Given the description of an element on the screen output the (x, y) to click on. 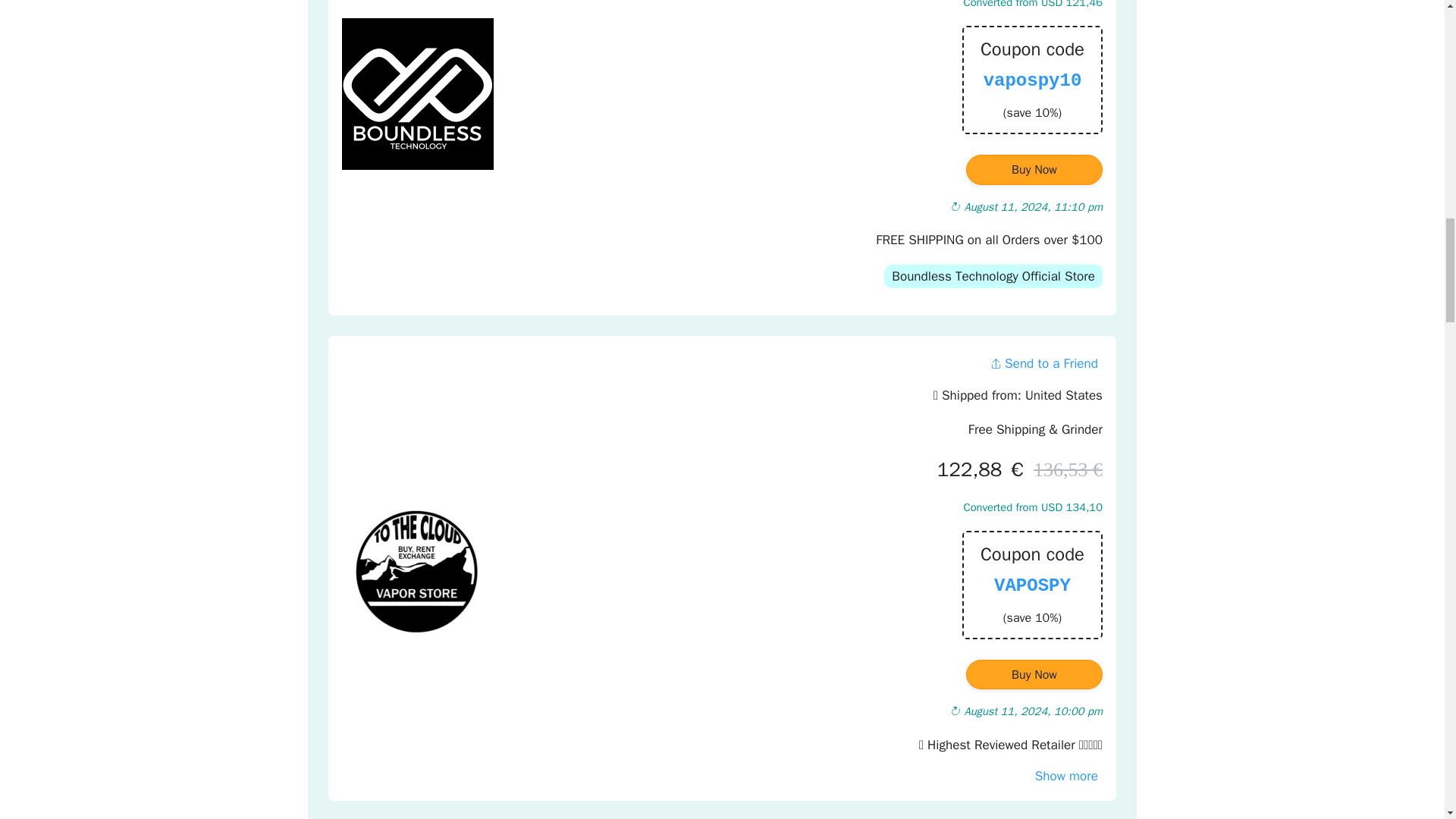
Buy Now (1034, 675)
Buy Now (1034, 169)
Send to a Friend (1043, 363)
Show more (1066, 775)
Bndlstech.com (417, 93)
Tothecloudvaporstore.com (417, 571)
